Given the description of an element on the screen output the (x, y) to click on. 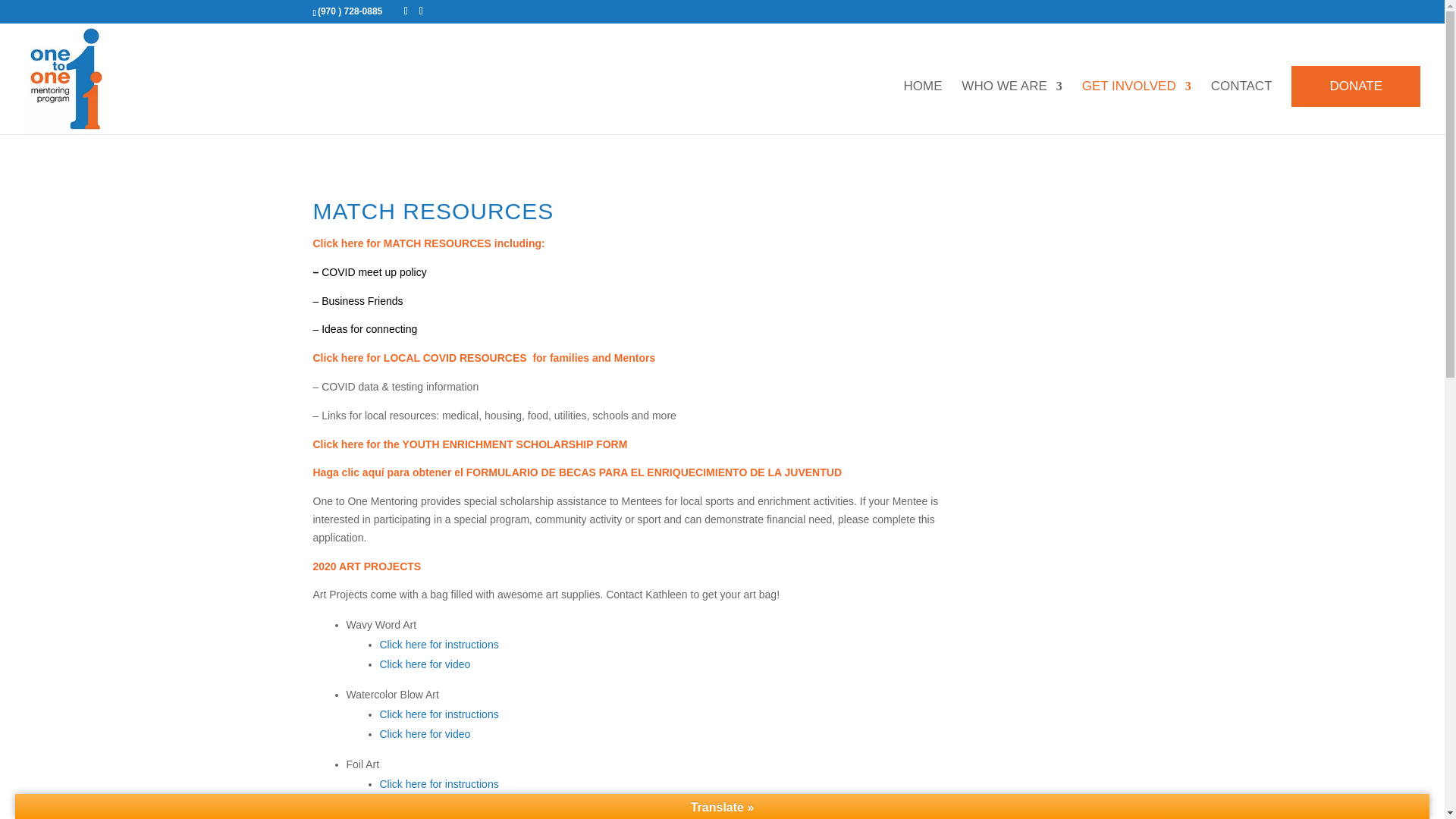
WHO WE ARE (1010, 107)
DONATE (1356, 86)
Click here for MATCH RESOURCES including: (428, 243)
Click here for the YOUTH ENRICHMENT SCHOLARSHIP FORM (470, 444)
GET INVOLVED (1136, 107)
Click here for instructions (437, 644)
CONTACT (1241, 107)
COVID meet up policy (372, 272)
